Given the description of an element on the screen output the (x, y) to click on. 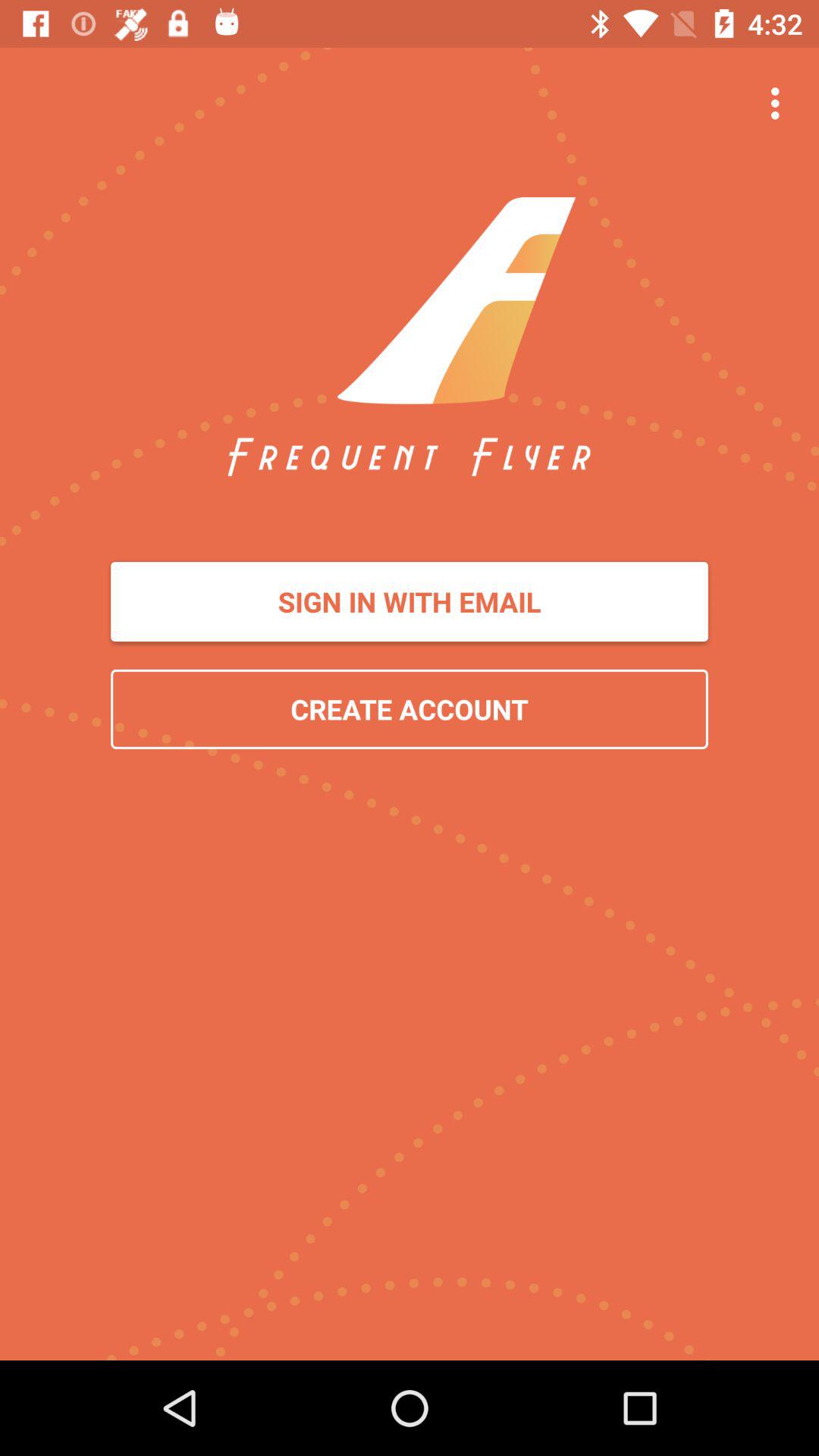
select icon at the top right corner (779, 103)
